Given the description of an element on the screen output the (x, y) to click on. 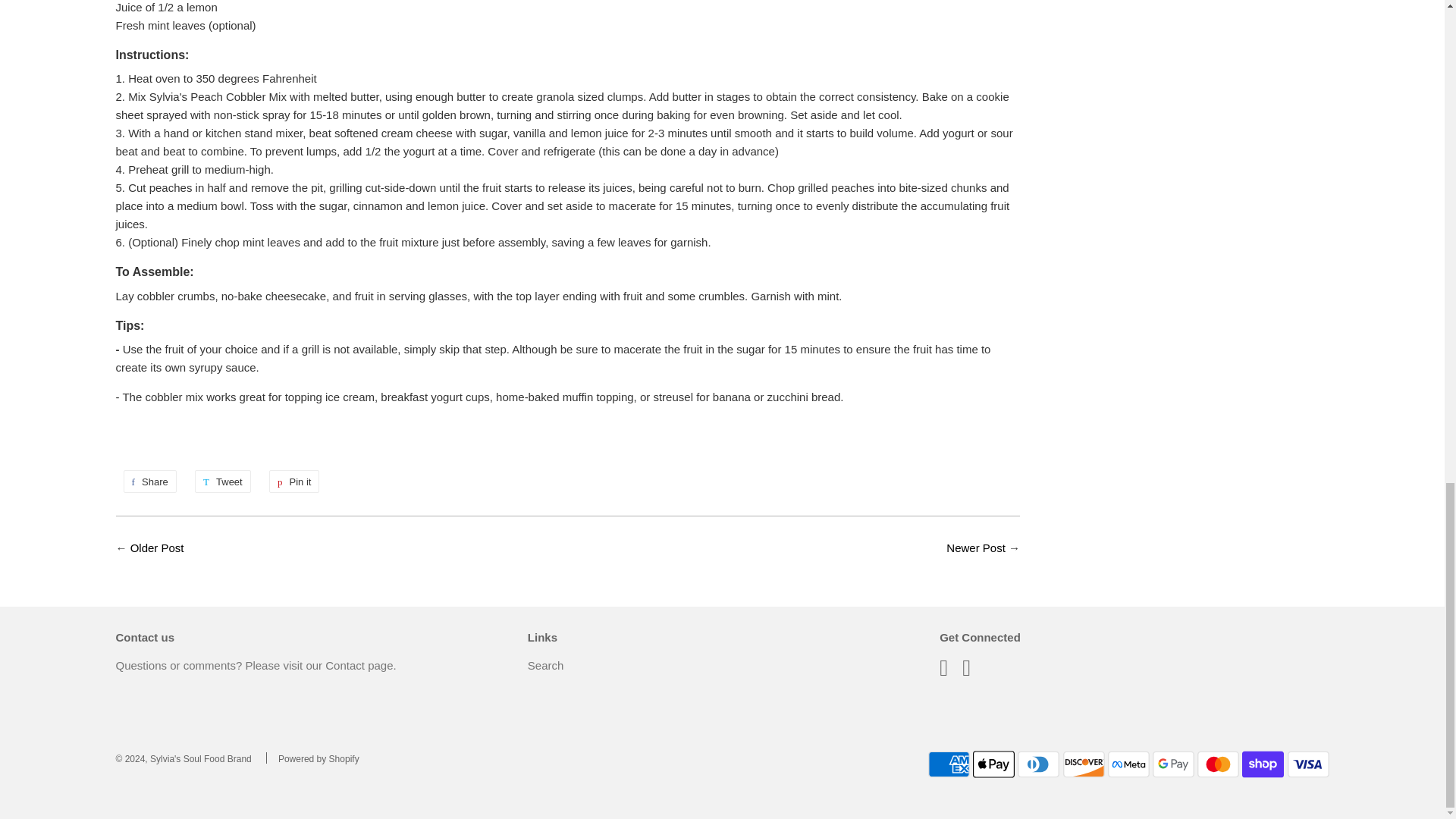
Pin it (294, 481)
Shop Pay (1262, 764)
Meta Pay (1129, 764)
Visa (1308, 764)
Share (149, 481)
Older Post (157, 547)
American Express (948, 764)
Google Pay (1173, 764)
Diners Club (1038, 764)
Discover (1083, 764)
Tweet (222, 481)
Apple Pay (993, 764)
Mastercard (1217, 764)
